Given the description of an element on the screen output the (x, y) to click on. 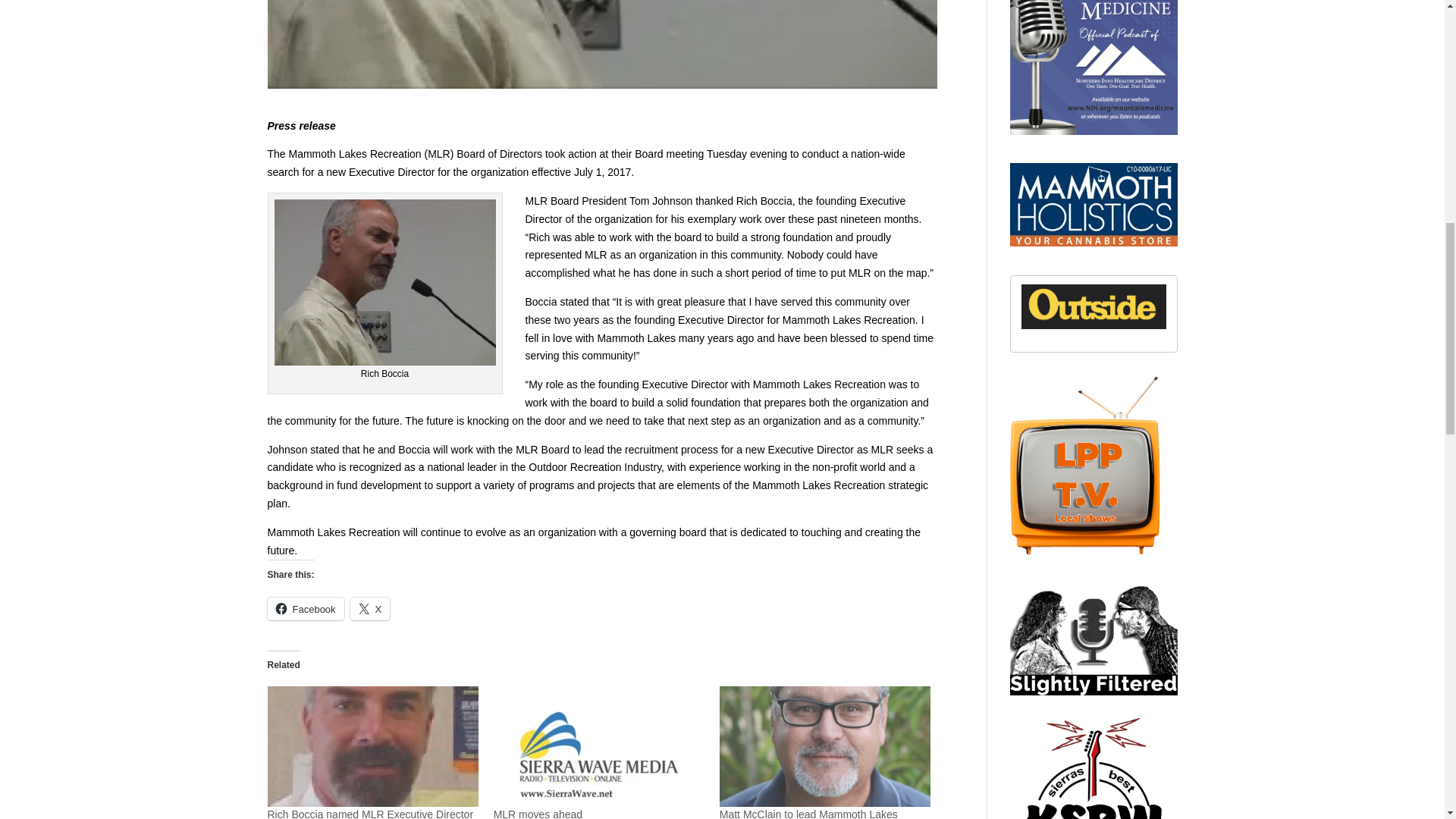
X (370, 608)
Rich Boccia named MLR Executive Director (369, 813)
MLR moves ahead (538, 813)
Click to share on X (370, 608)
Facebook (304, 608)
Click to share on Facebook (304, 608)
Matt McClain to lead Mammoth Lakes Recreation (808, 813)
